Given the description of an element on the screen output the (x, y) to click on. 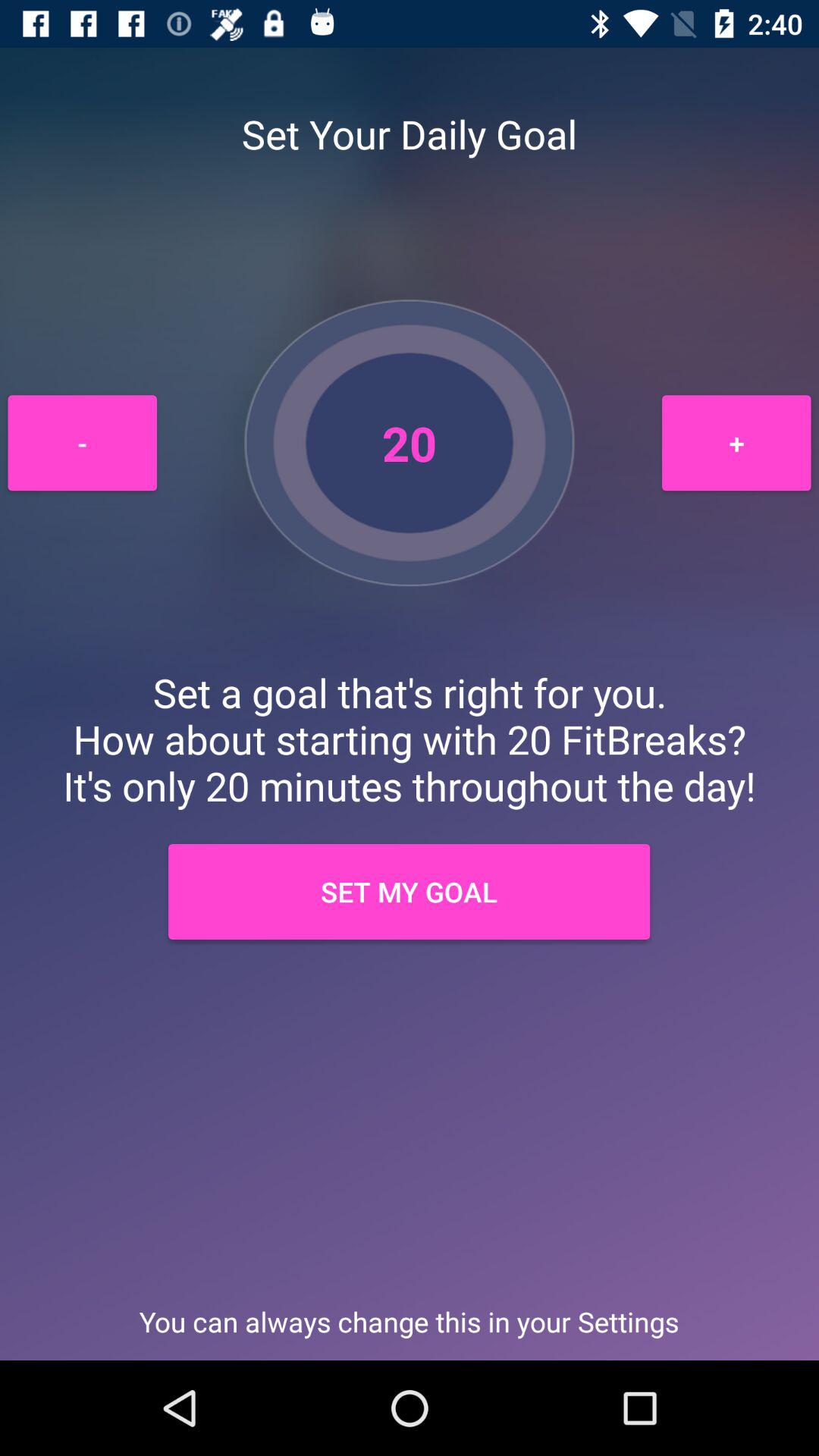
turn off item at the top right corner (736, 442)
